Given the description of an element on the screen output the (x, y) to click on. 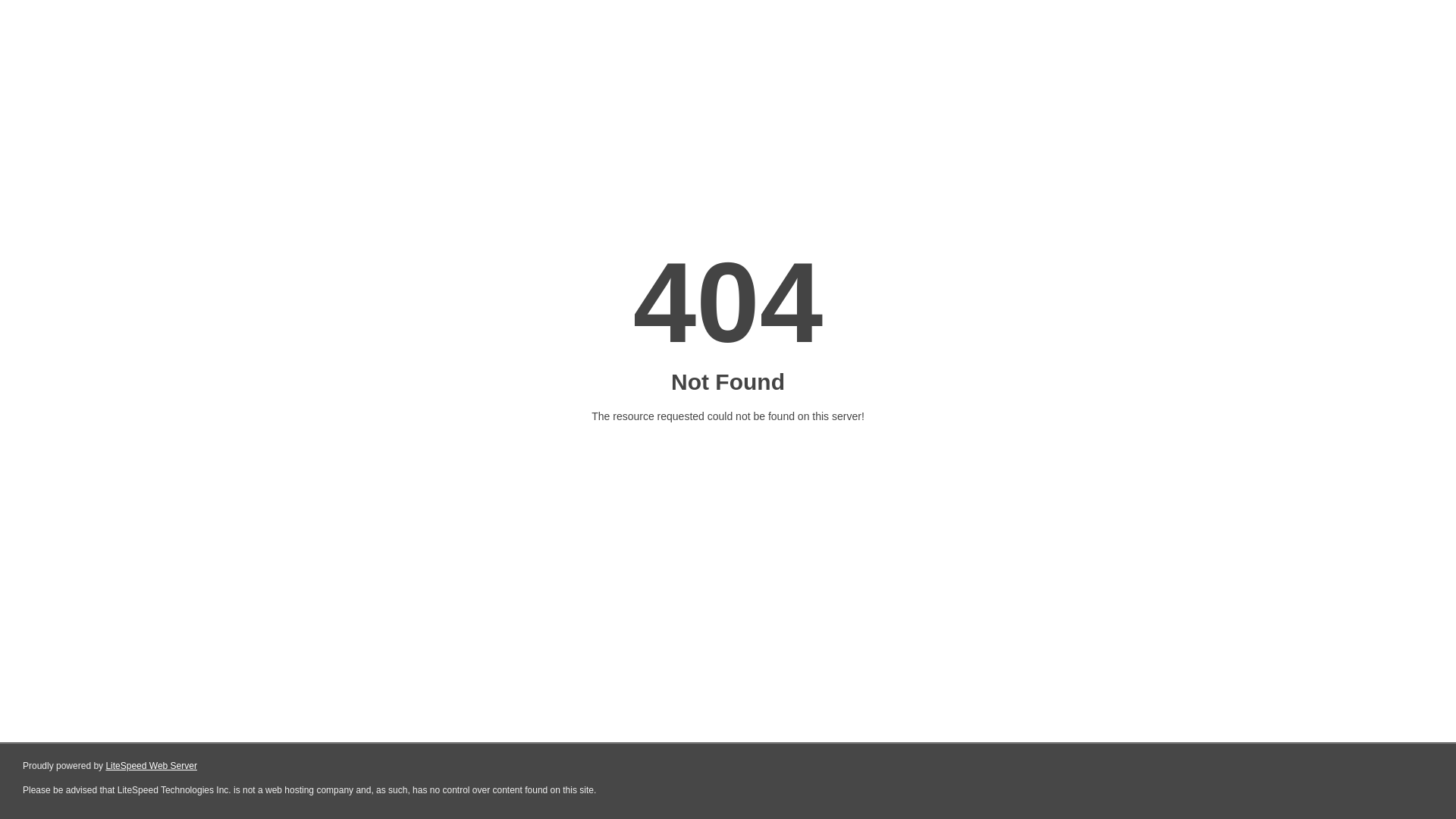
LiteSpeed Web Server Element type: text (151, 765)
